Given the description of an element on the screen output the (x, y) to click on. 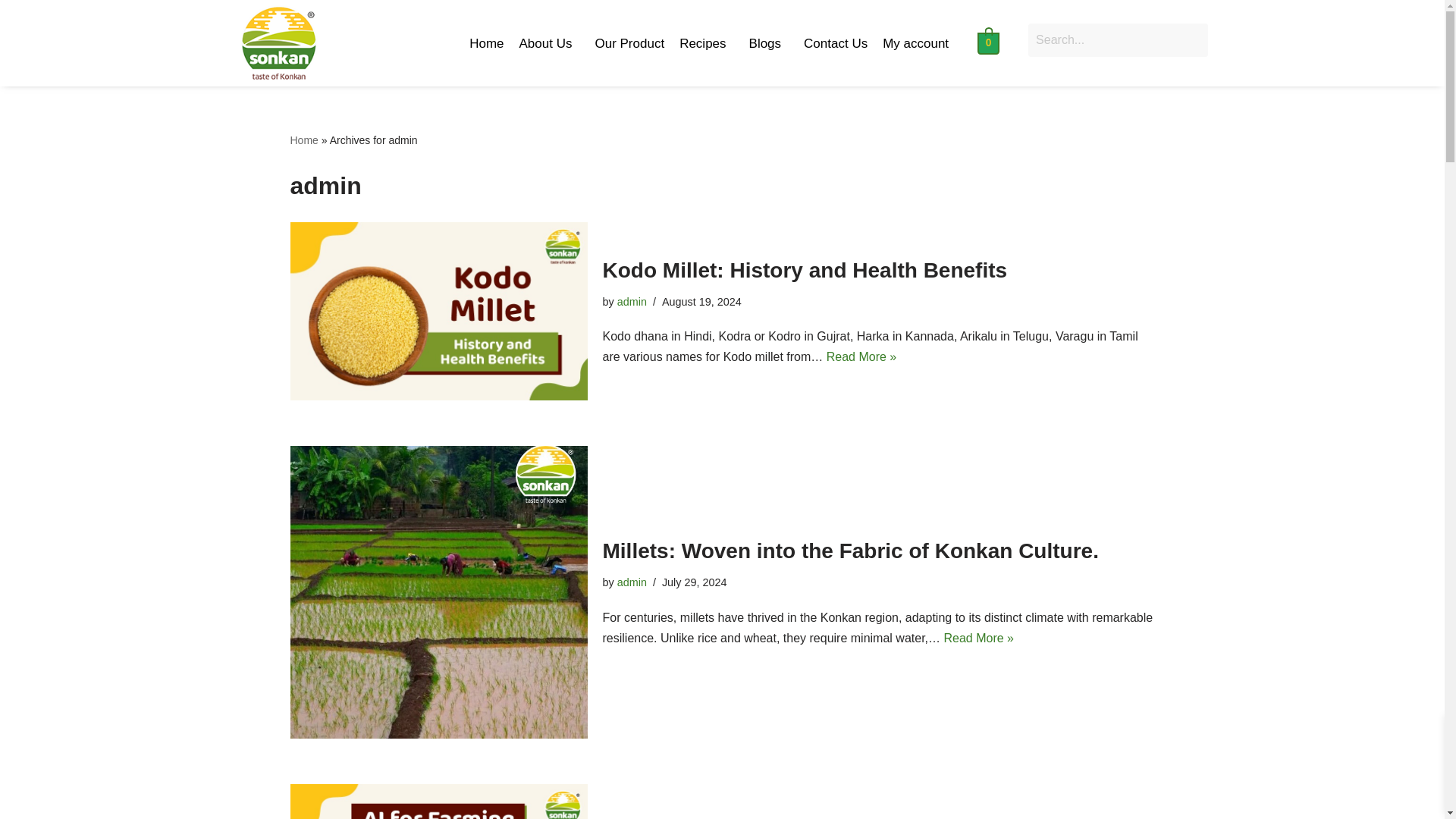
Posts by admin (631, 301)
Blogs (768, 42)
Our Product (628, 42)
Home (486, 42)
View your shopping cart (987, 42)
Kodo Millet: History and Health Benefits (437, 310)
0 (987, 42)
Posts by admin (631, 582)
Millets: Woven into the Fabric of Konkan Culture. (849, 550)
My account (915, 42)
